Given the description of an element on the screen output the (x, y) to click on. 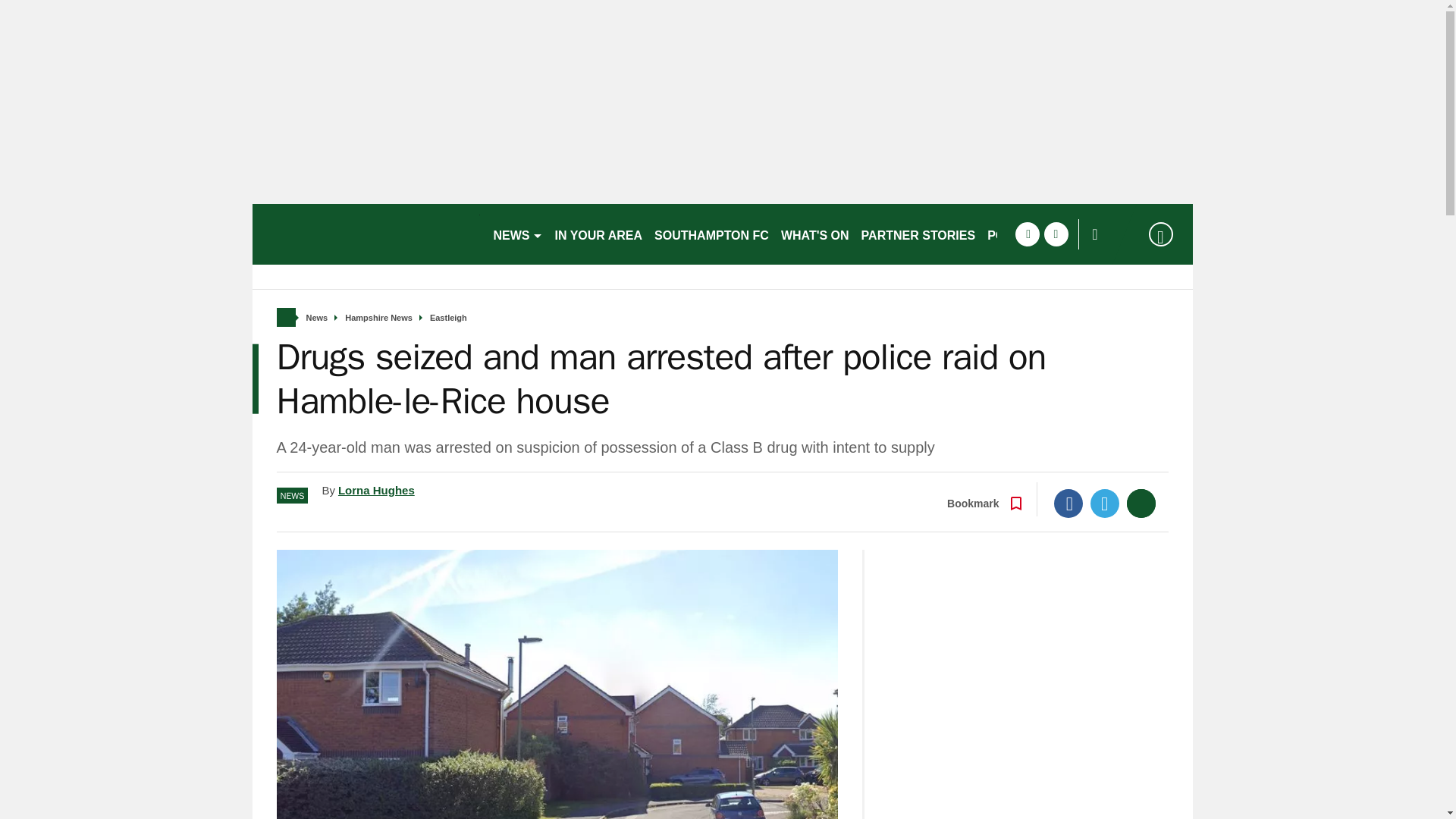
PORTSMOUTH FC (1040, 233)
IN YOUR AREA (598, 233)
WHAT'S ON (815, 233)
Twitter (1104, 502)
hampshirelive (365, 233)
SOUTHAMPTON FC (710, 233)
twitter (1055, 233)
PARTNER STORIES (918, 233)
facebook (1026, 233)
NEWS (517, 233)
Facebook (1068, 502)
